Given the description of an element on the screen output the (x, y) to click on. 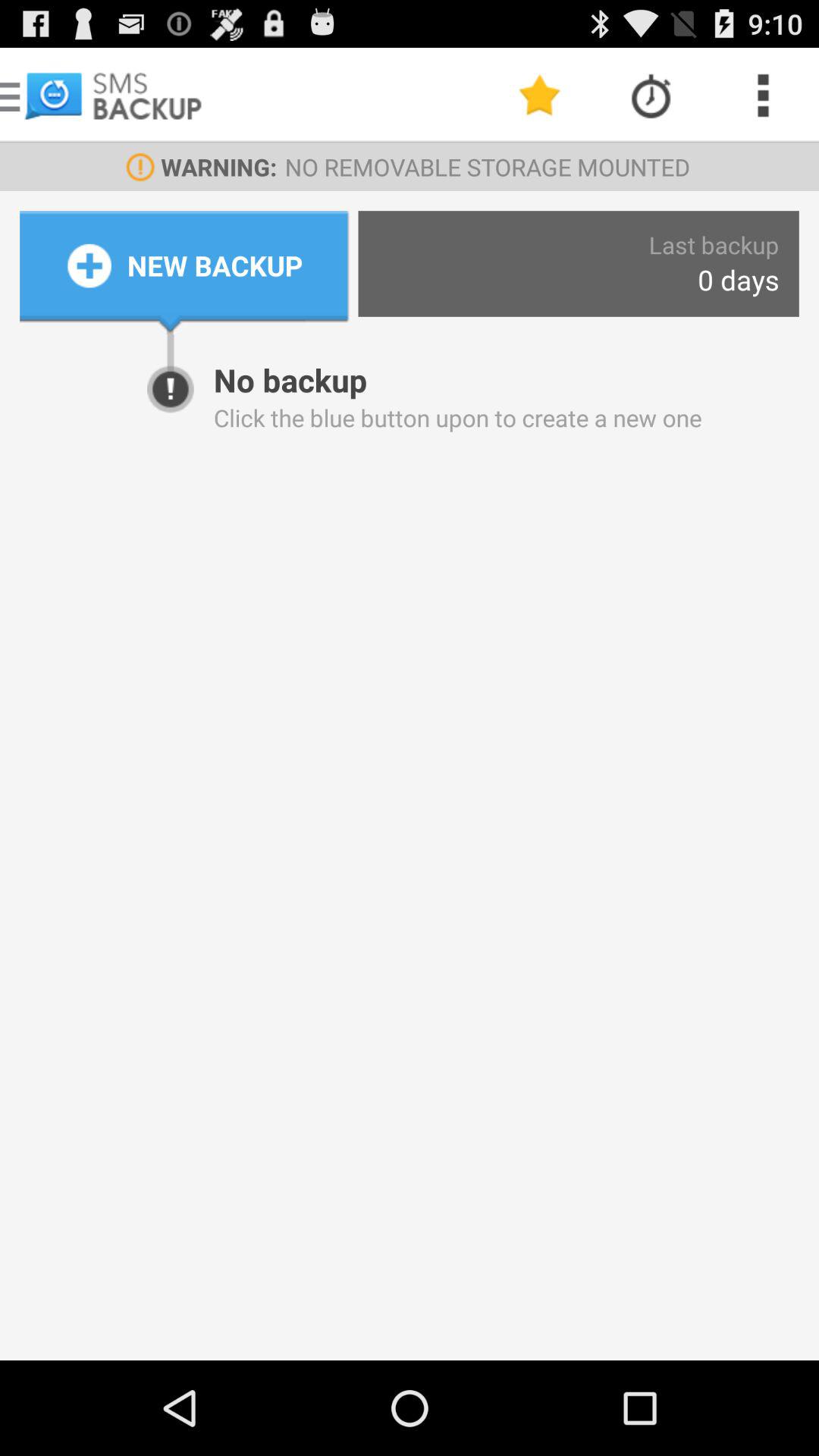
choose the app above no removable storage icon (540, 95)
